Given the description of an element on the screen output the (x, y) to click on. 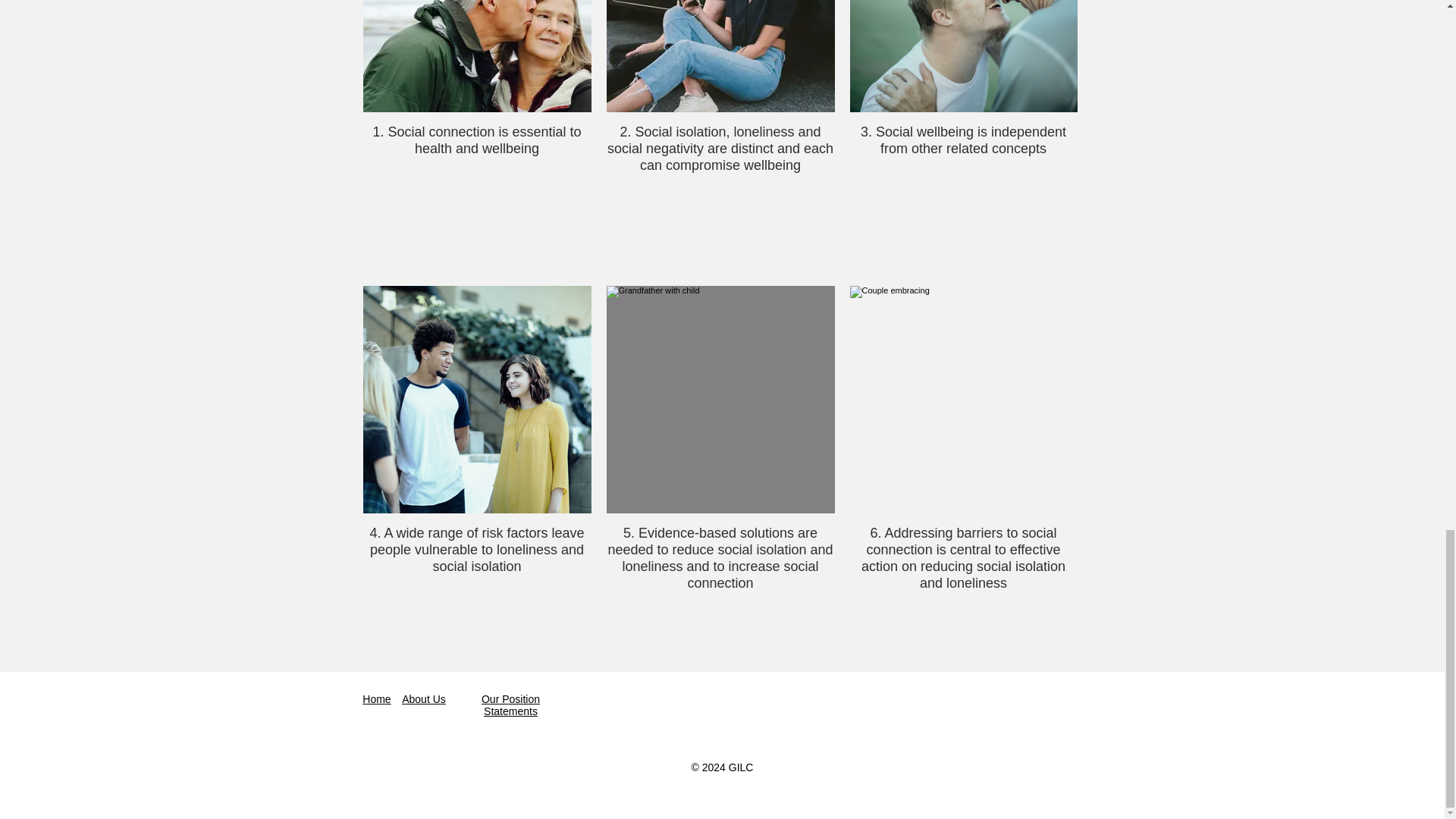
Our Position Statements (510, 704)
Home (376, 698)
About Us (423, 698)
